Given the description of an element on the screen output the (x, y) to click on. 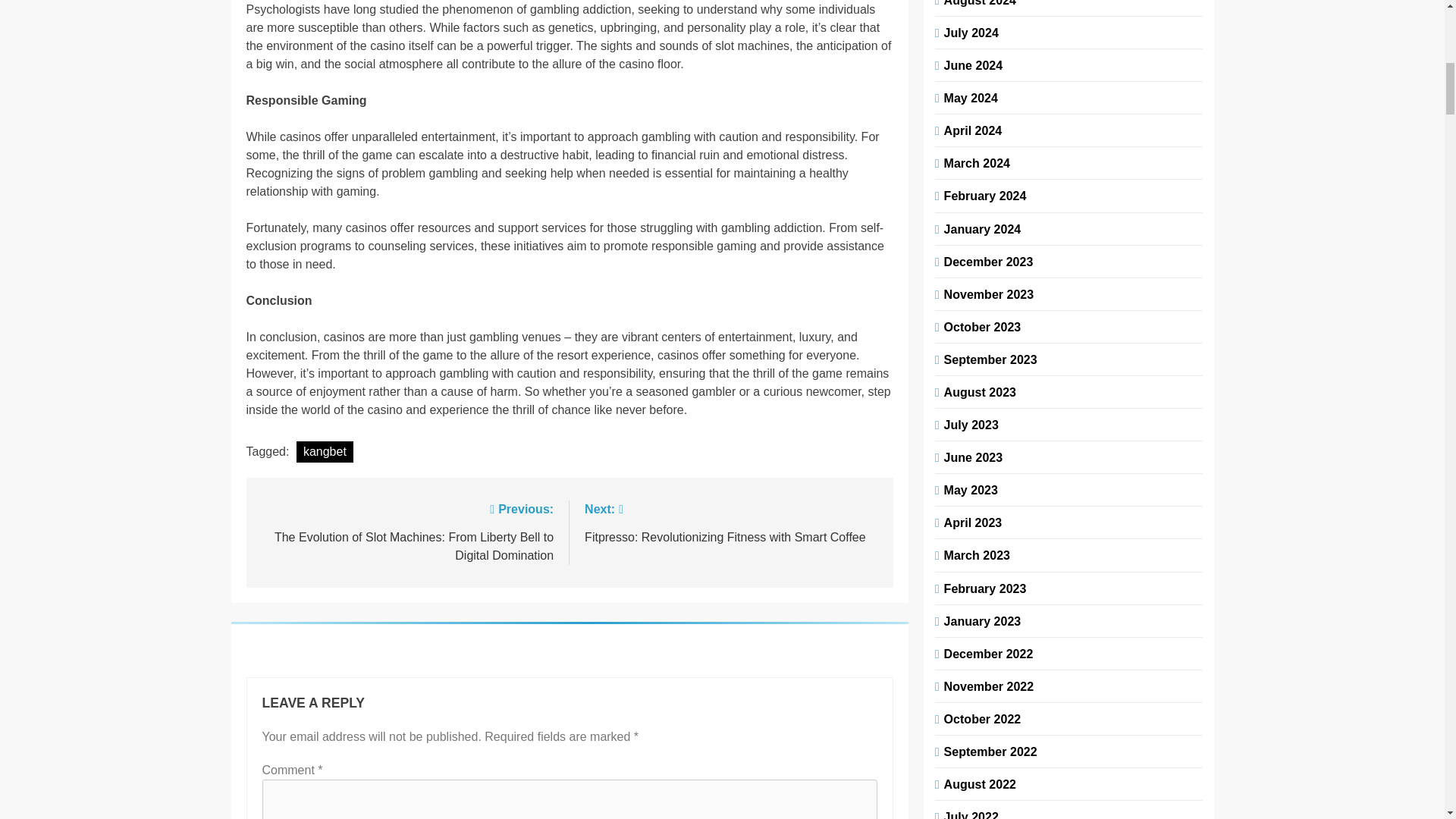
kangbet (325, 451)
